Given the description of an element on the screen output the (x, y) to click on. 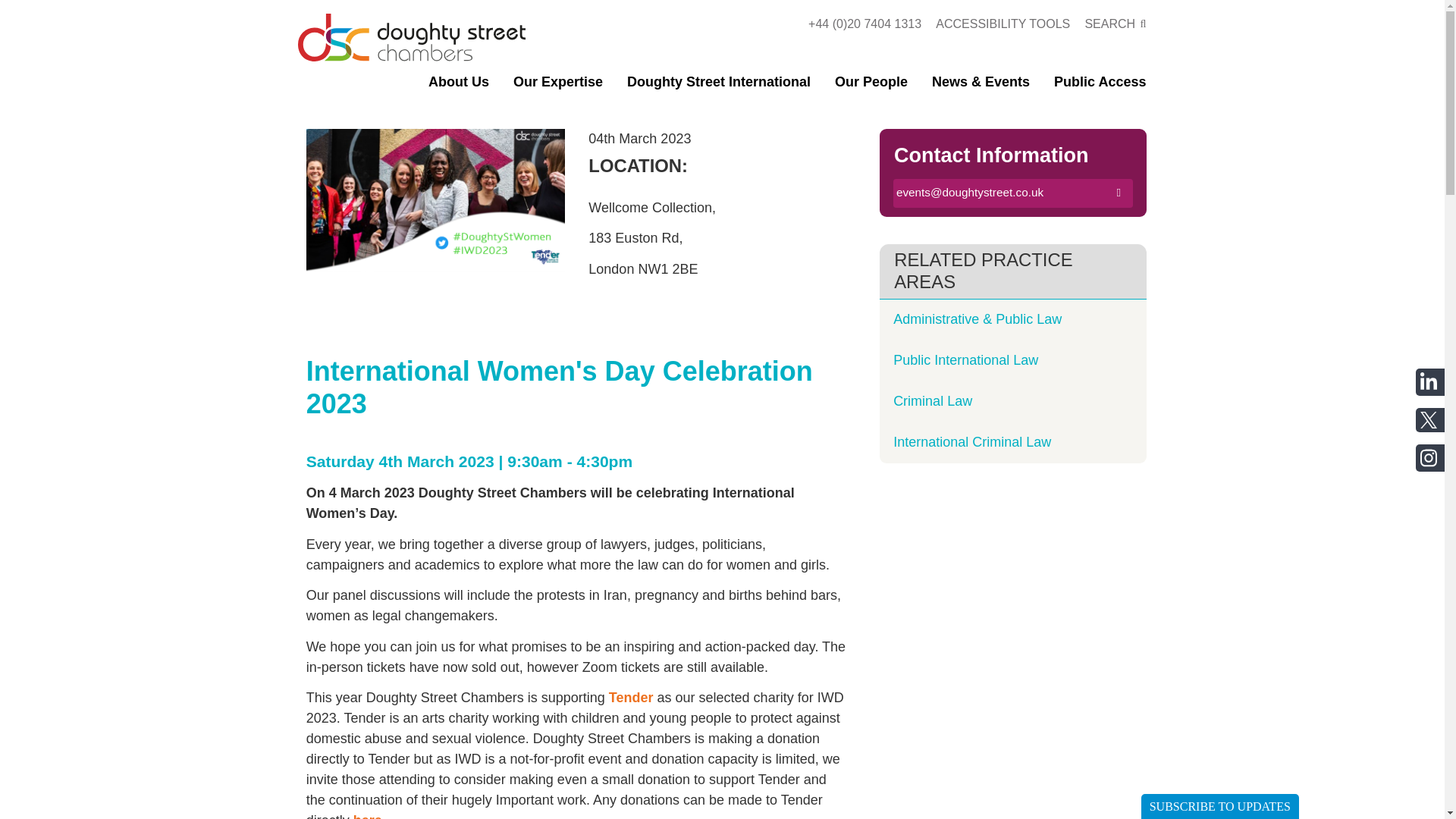
Public Access (1099, 88)
Doughty Street International (718, 88)
Our People (870, 88)
Our Expertise (557, 88)
ACCESSIBILITY TOOLS (1003, 23)
About Us (458, 88)
SEARCH (1109, 23)
